Given the description of an element on the screen output the (x, y) to click on. 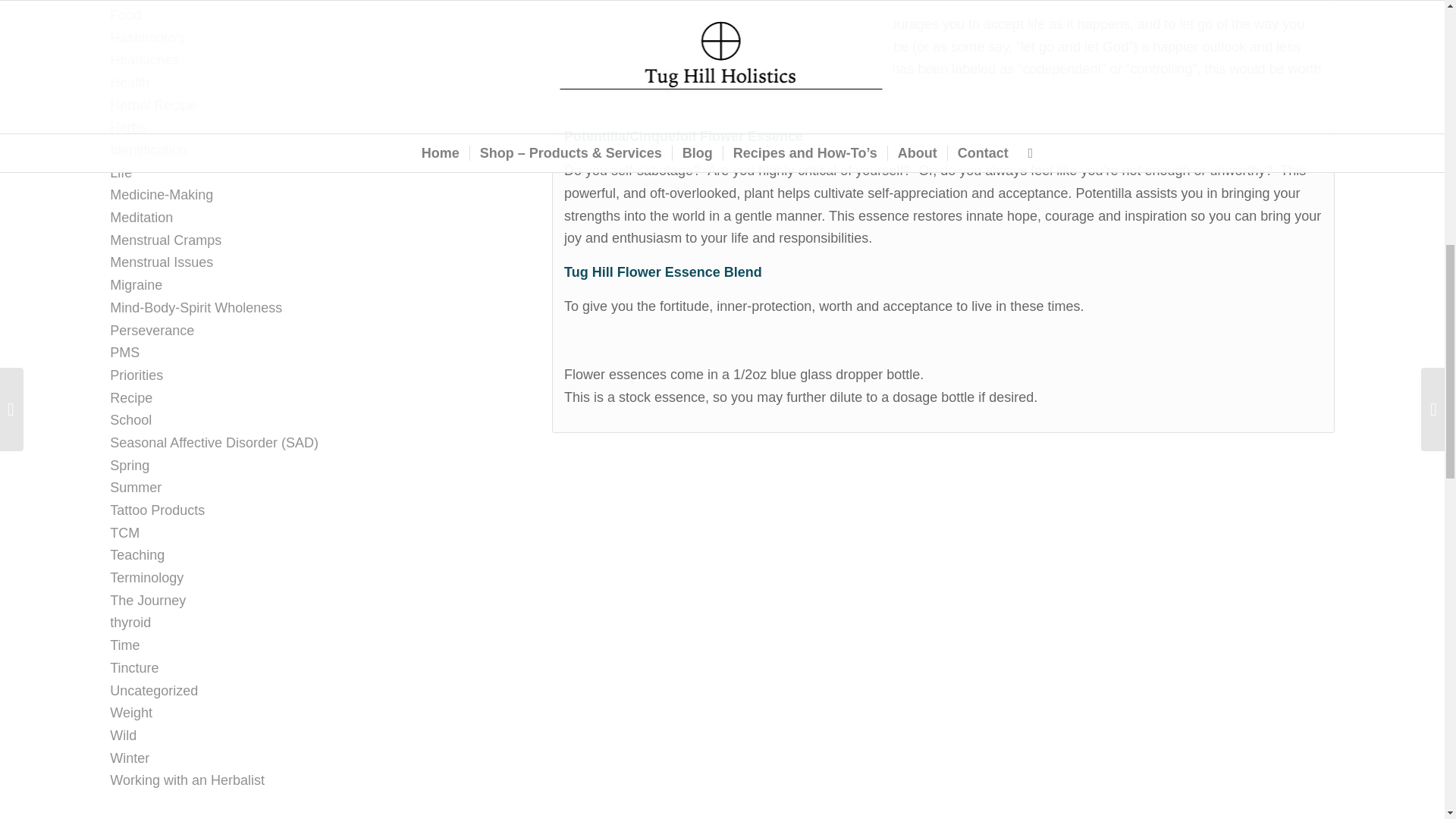
Headaches (144, 59)
Herbal Recipe (153, 105)
Hashimoto's (147, 37)
Food (125, 14)
Health (129, 82)
Herbs (128, 127)
